Given the description of an element on the screen output the (x, y) to click on. 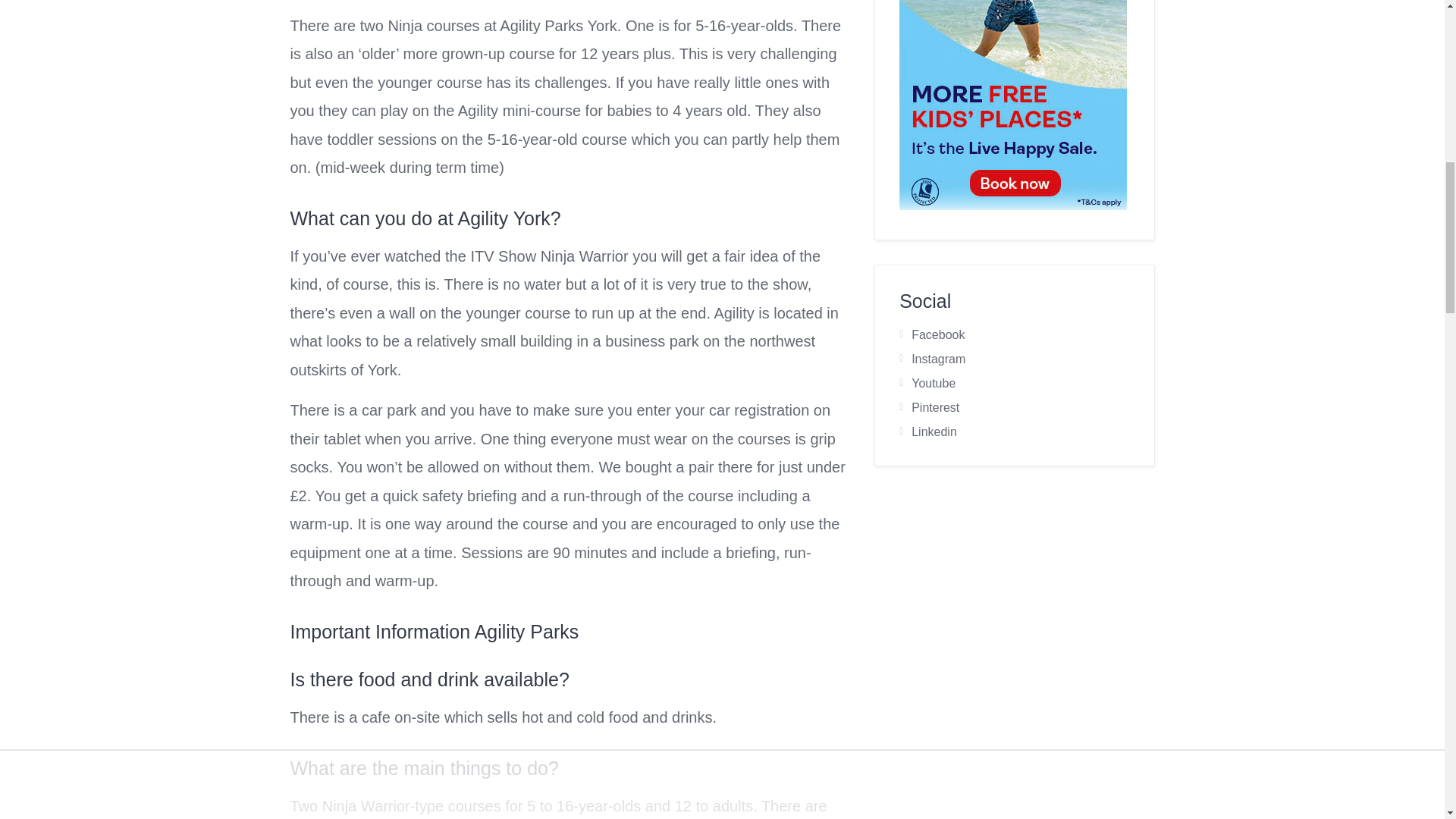
Agility Parks York 7 (1012, 104)
